Given the description of an element on the screen output the (x, y) to click on. 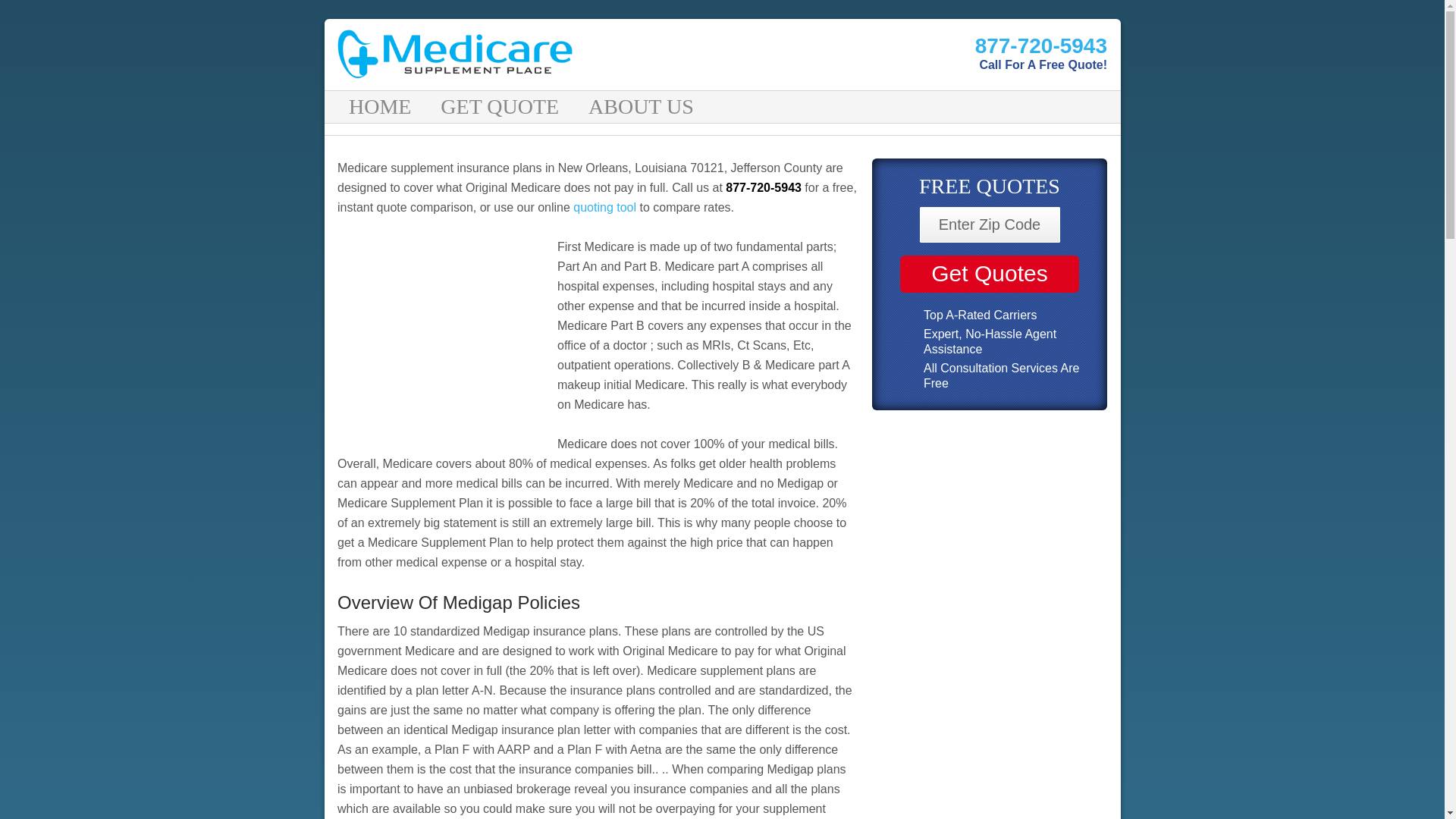
ABOUT US (642, 106)
877-720-5943 (1040, 45)
GET QUOTE (501, 106)
Get Quotes (988, 273)
Get Quotes (988, 273)
Medicare Supplement Place (517, 52)
quoting tool (606, 206)
HOME (381, 106)
